Given the description of an element on the screen output the (x, y) to click on. 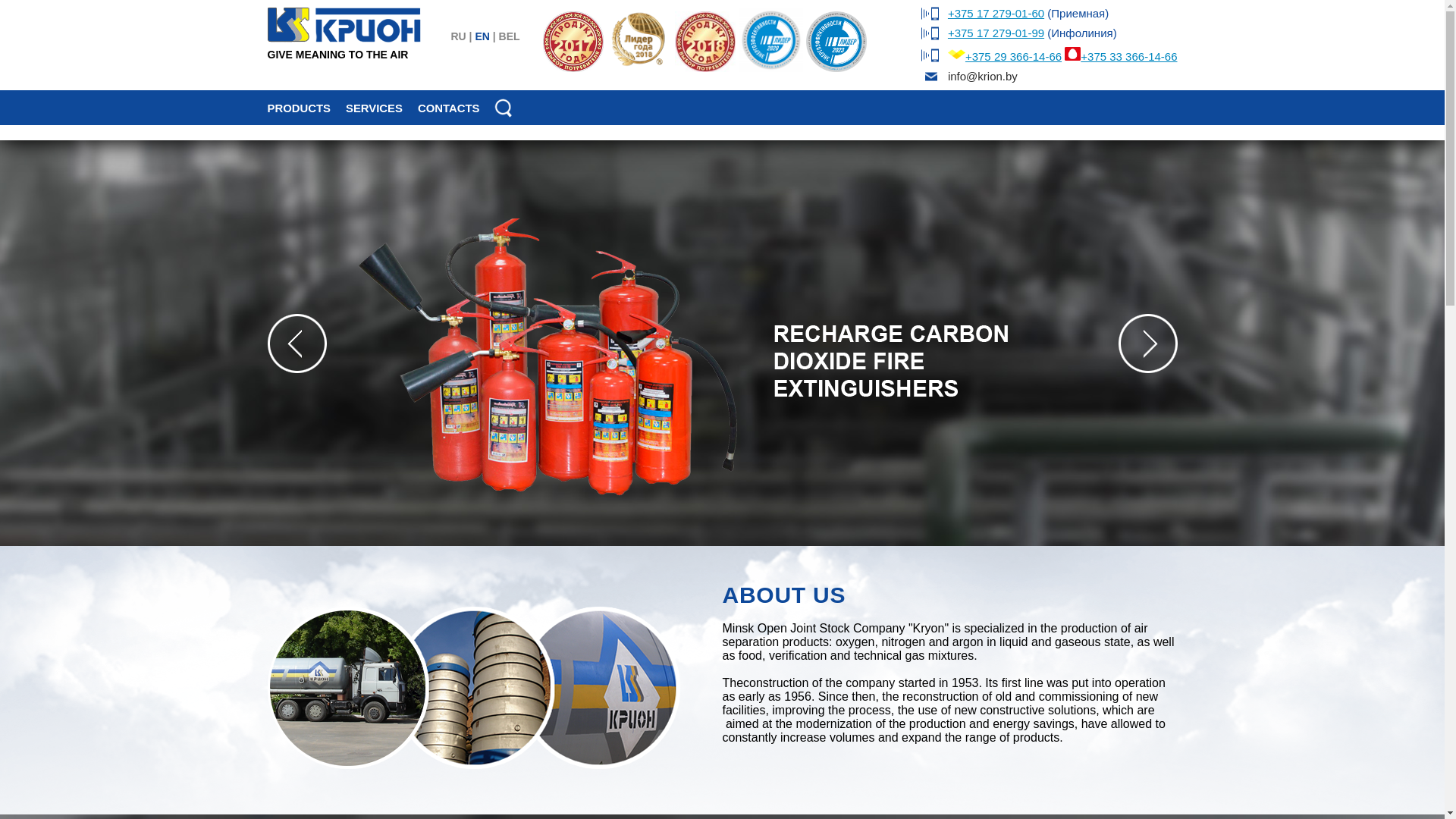
+375 33 366-14-66 Element type: text (1128, 56)
RU Element type: text (457, 36)
CONTACTS Element type: text (448, 108)
EN Element type: text (481, 36)
GIVE MEANING TO THE AIR Element type: text (343, 47)
Prev Element type: text (296, 343)
PRODUCTS Element type: text (297, 108)
+375 17 279-01-99 Element type: text (995, 32)
+375 17 279-01-60 Element type: text (995, 12)
+375 29 366-14-66 Element type: text (1013, 56)
BEL Element type: text (509, 36)
SERVICES Element type: text (373, 108)
Next Element type: text (1146, 343)
